Given the description of an element on the screen output the (x, y) to click on. 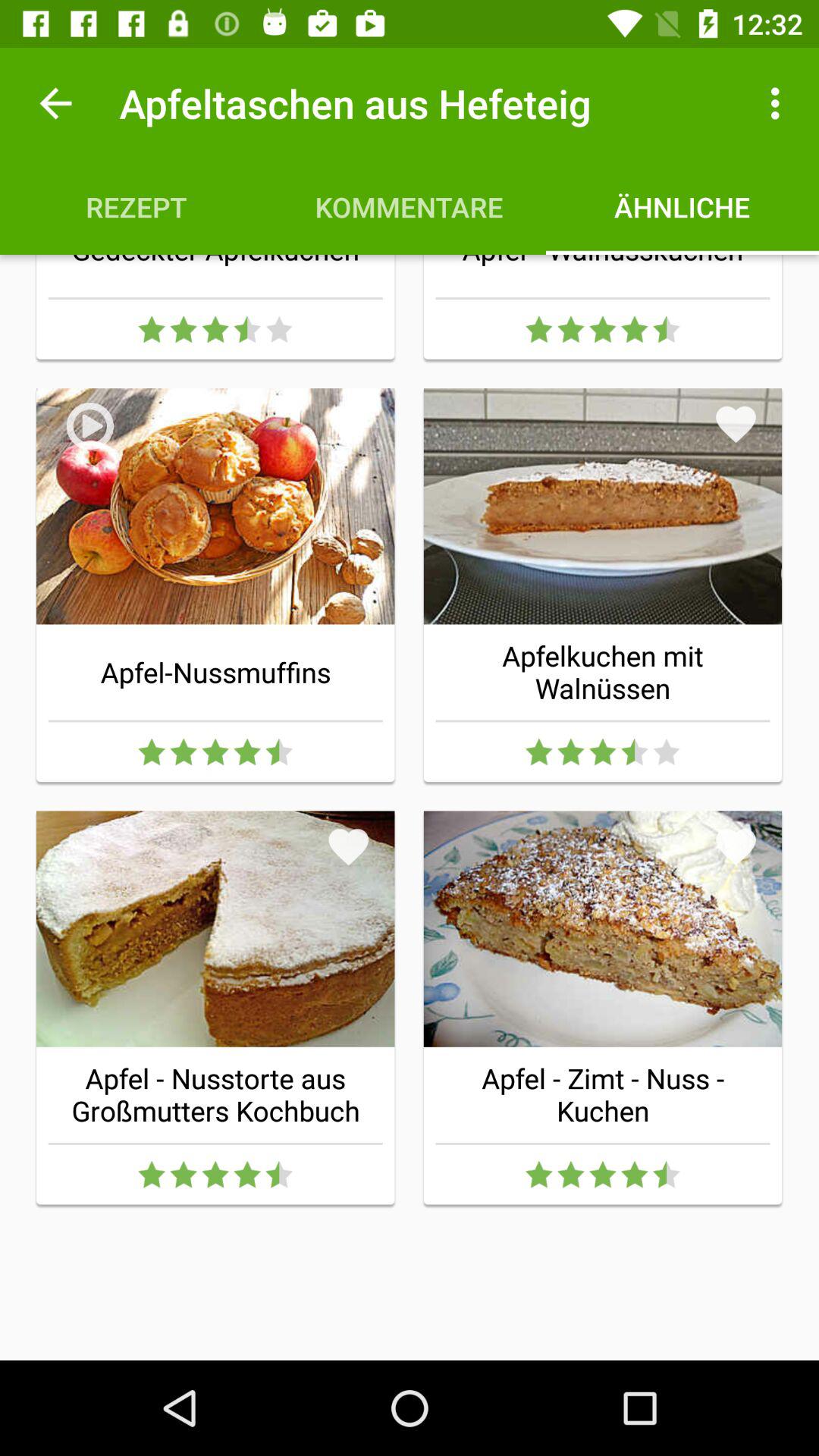
press item above the apfel-nussmuffins item (348, 424)
